Given the description of an element on the screen output the (x, y) to click on. 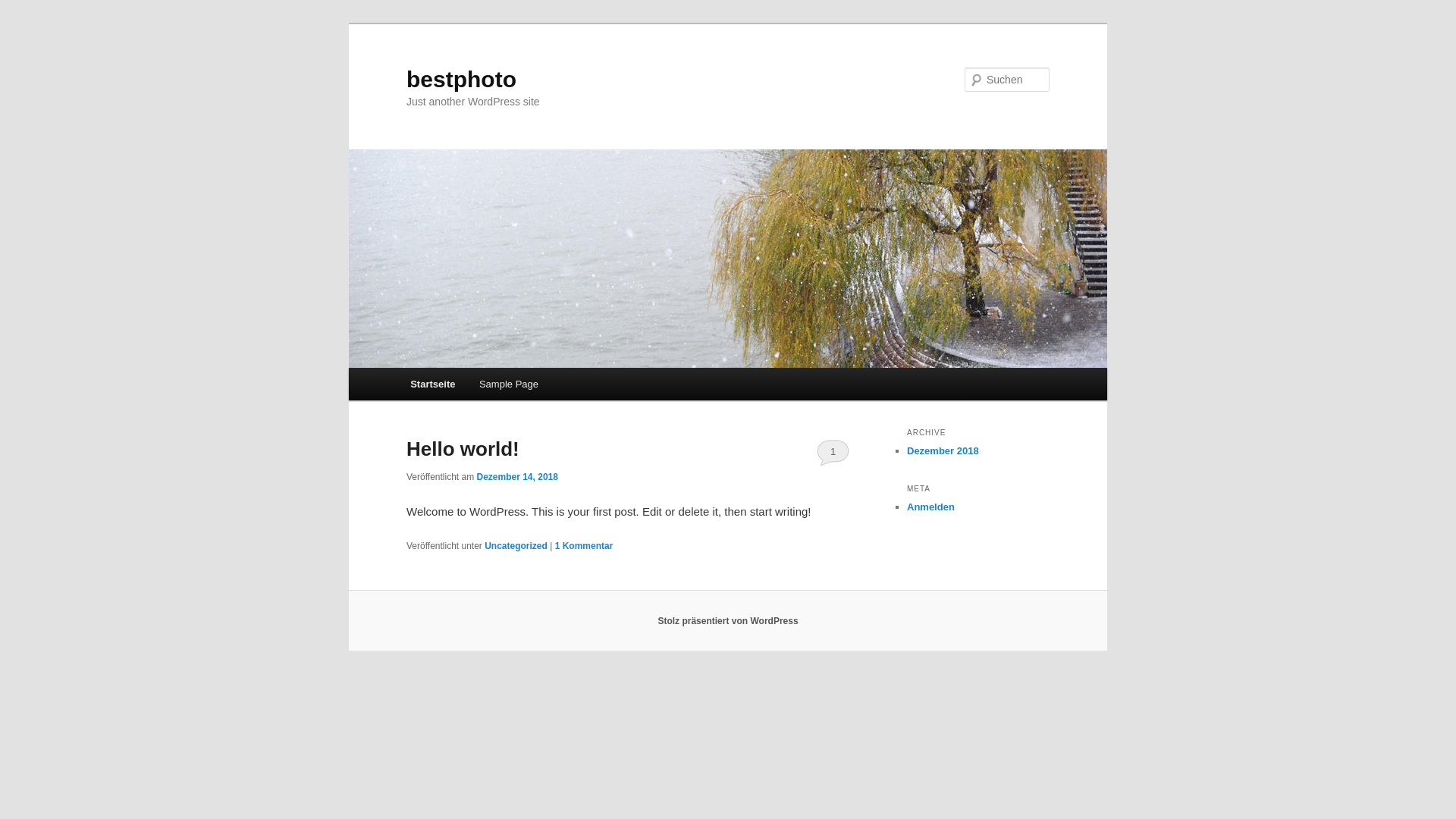
1 Kommentar Element type: text (584, 545)
Suchen Element type: text (25, 8)
Hello world! Element type: text (462, 448)
Dezember 2018 Element type: text (942, 450)
Startseite Element type: text (432, 383)
Dezember 14, 2018 Element type: text (516, 476)
Zum Inhalt wechseln Element type: text (420, 367)
bestphoto Element type: text (461, 78)
1 Element type: text (832, 451)
Sample Page Element type: text (508, 383)
Uncategorized Element type: text (515, 545)
Anmelden Element type: text (930, 506)
